Given the description of an element on the screen output the (x, y) to click on. 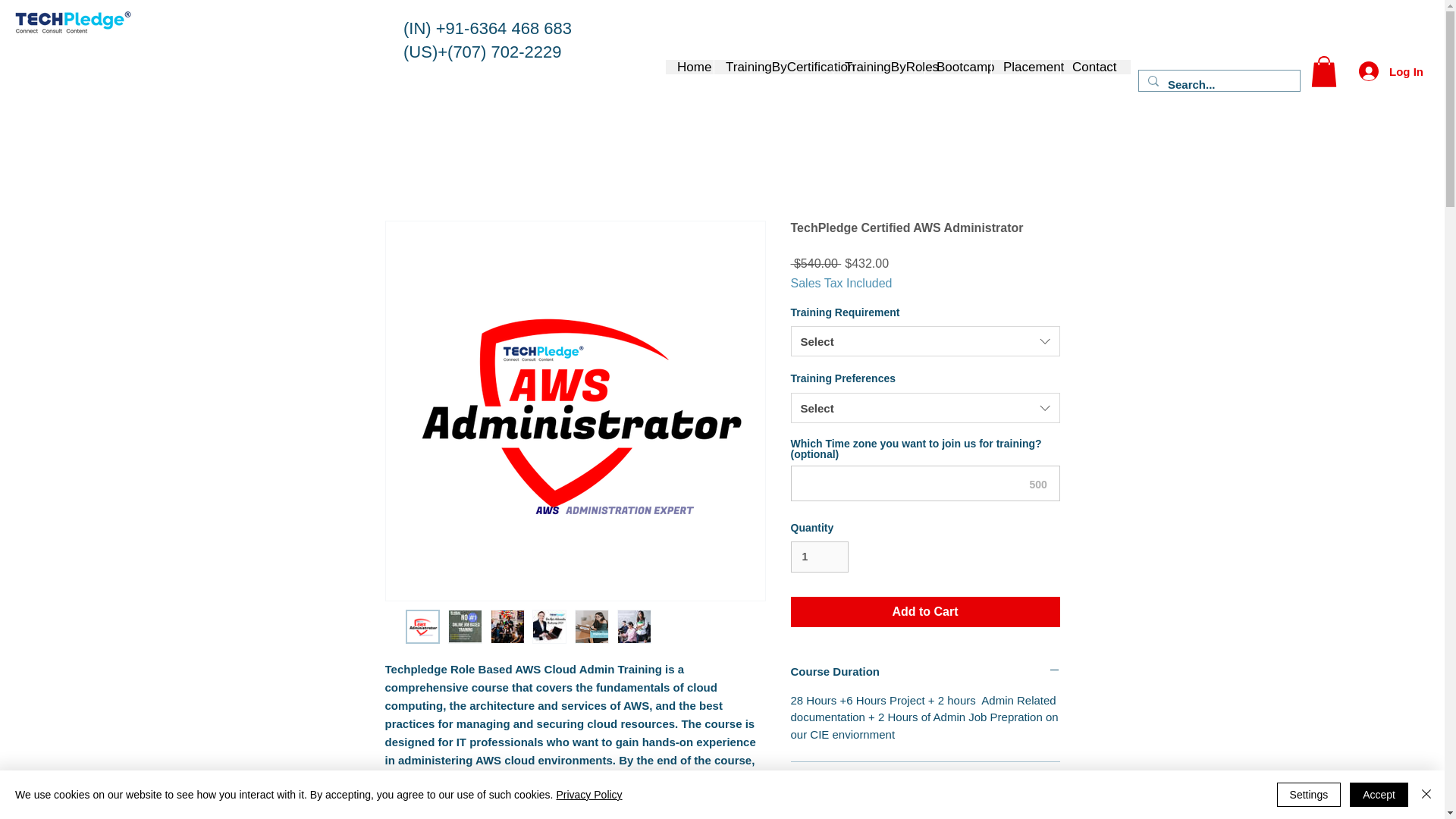
Placement (1025, 66)
1 (818, 556)
Select (924, 340)
TrainingByCertification (772, 66)
Bootcamp (957, 66)
Course Duration (924, 671)
Course Material (924, 788)
Contact (1087, 66)
Home (689, 66)
TrainingByRoles (878, 66)
